Given the description of an element on the screen output the (x, y) to click on. 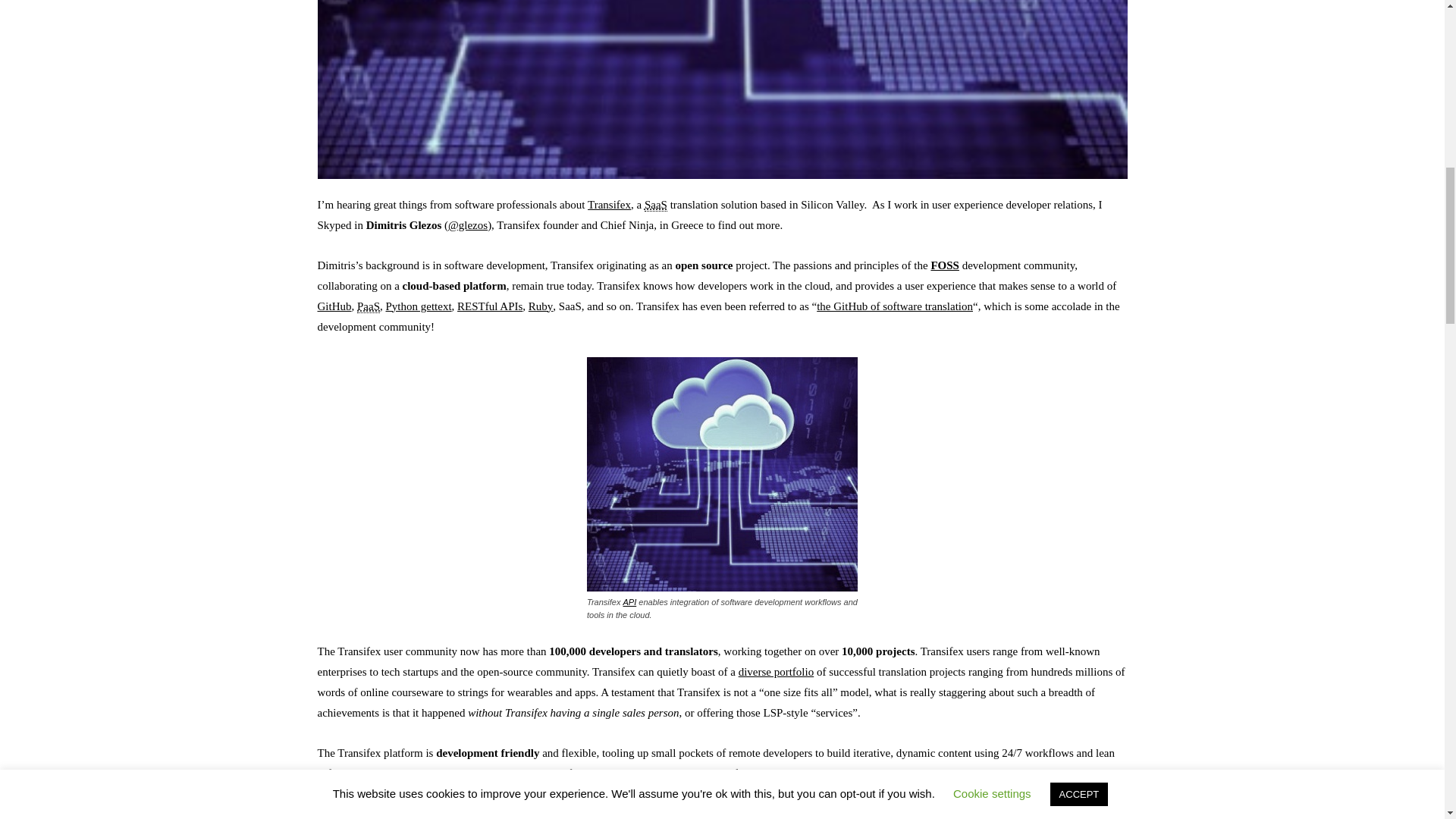
Transifex (609, 204)
Software as a Service (655, 205)
Dimitris Glezos on Twitter (467, 224)
